Given the description of an element on the screen output the (x, y) to click on. 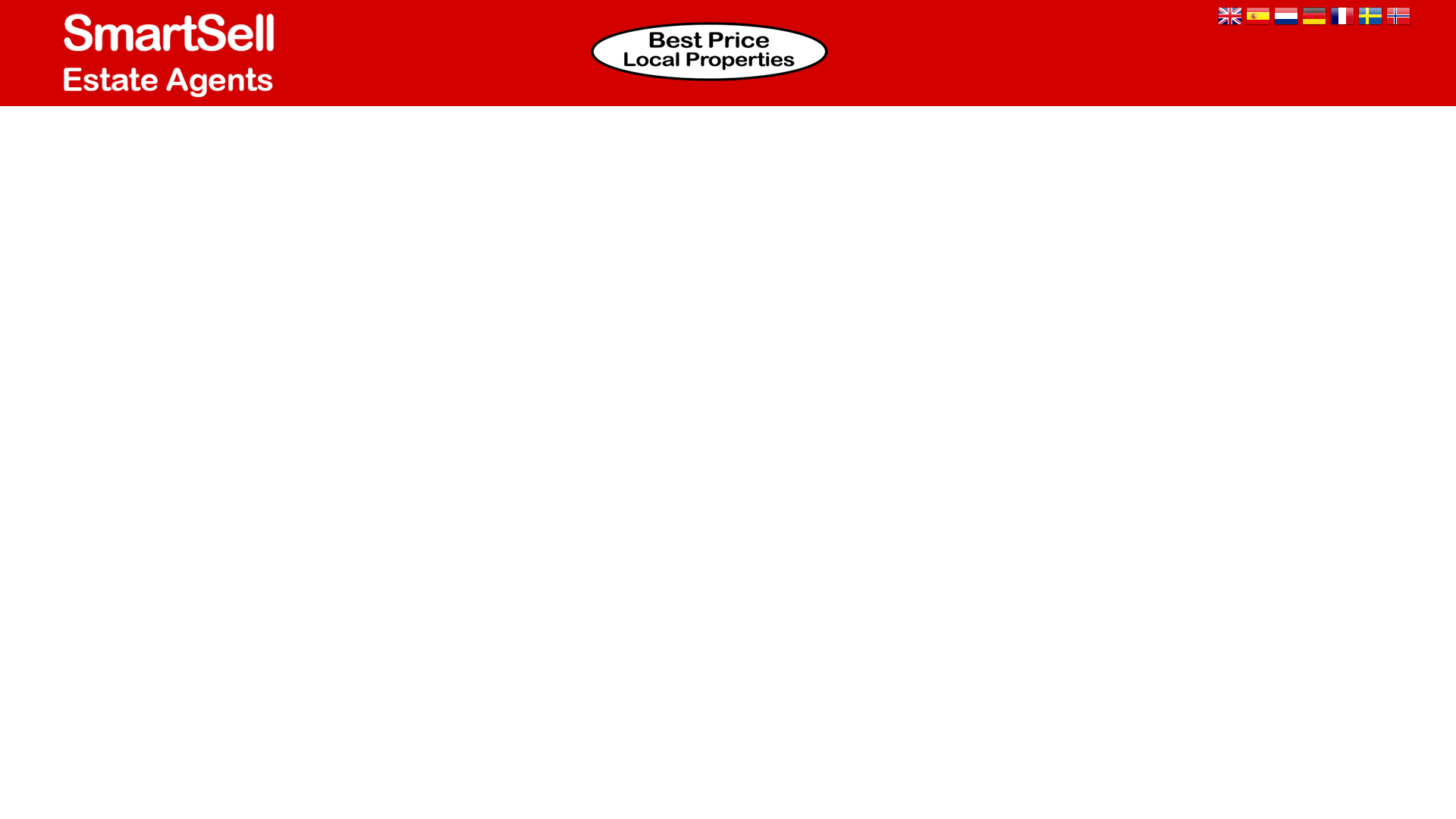
English (1229, 17)
Swedish (1369, 17)
German (1313, 17)
Norwegian (1398, 17)
Smartsell - Best Price Local Properties (708, 51)
Spanish (1257, 17)
French (1342, 17)
Dutch (1286, 17)
